Given the description of an element on the screen output the (x, y) to click on. 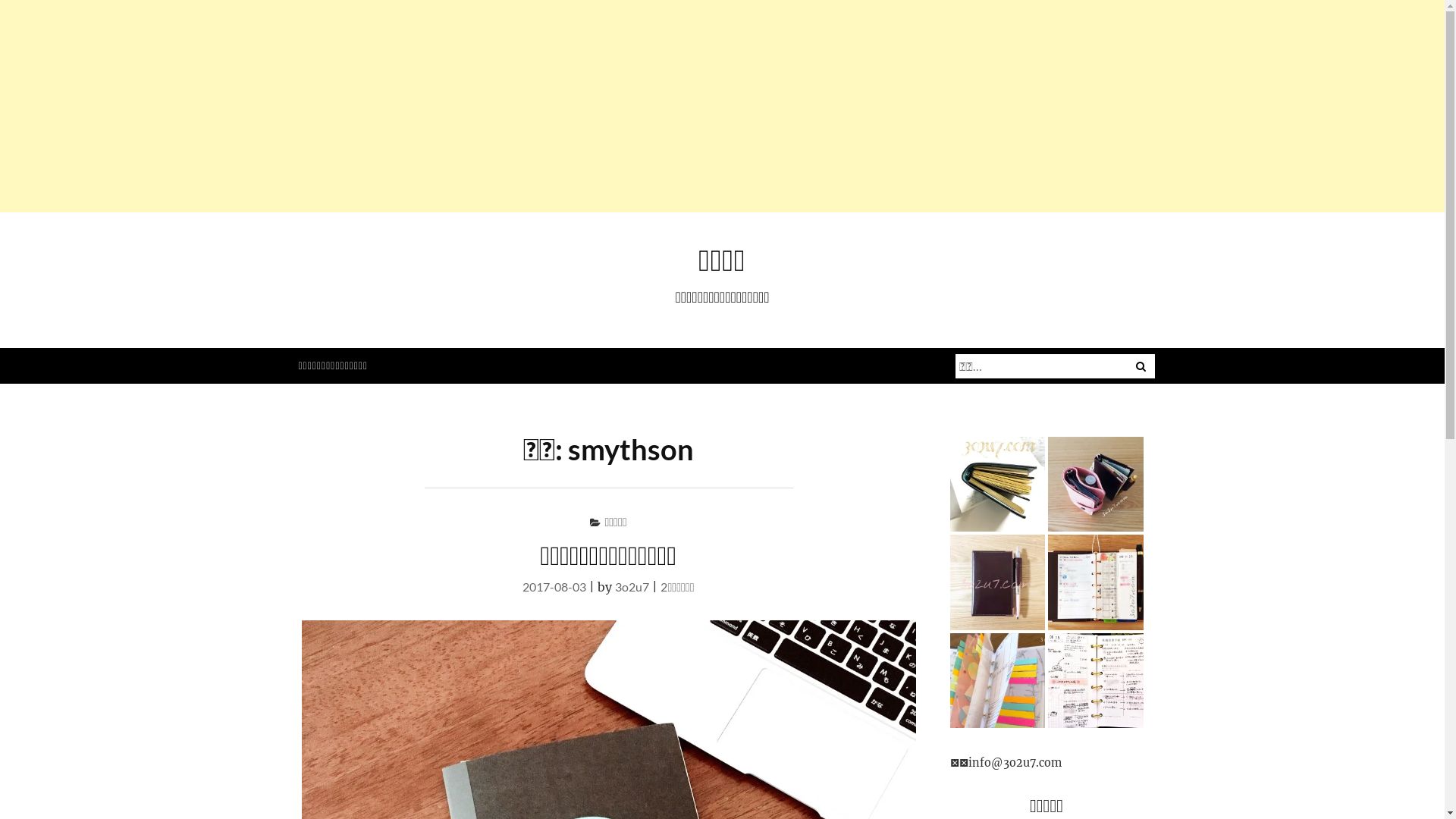
3o2u7 Element type: text (632, 586)
2017-08-03 Element type: text (554, 586)
Advertisement Element type: hover (455, 106)
